Given the description of an element on the screen output the (x, y) to click on. 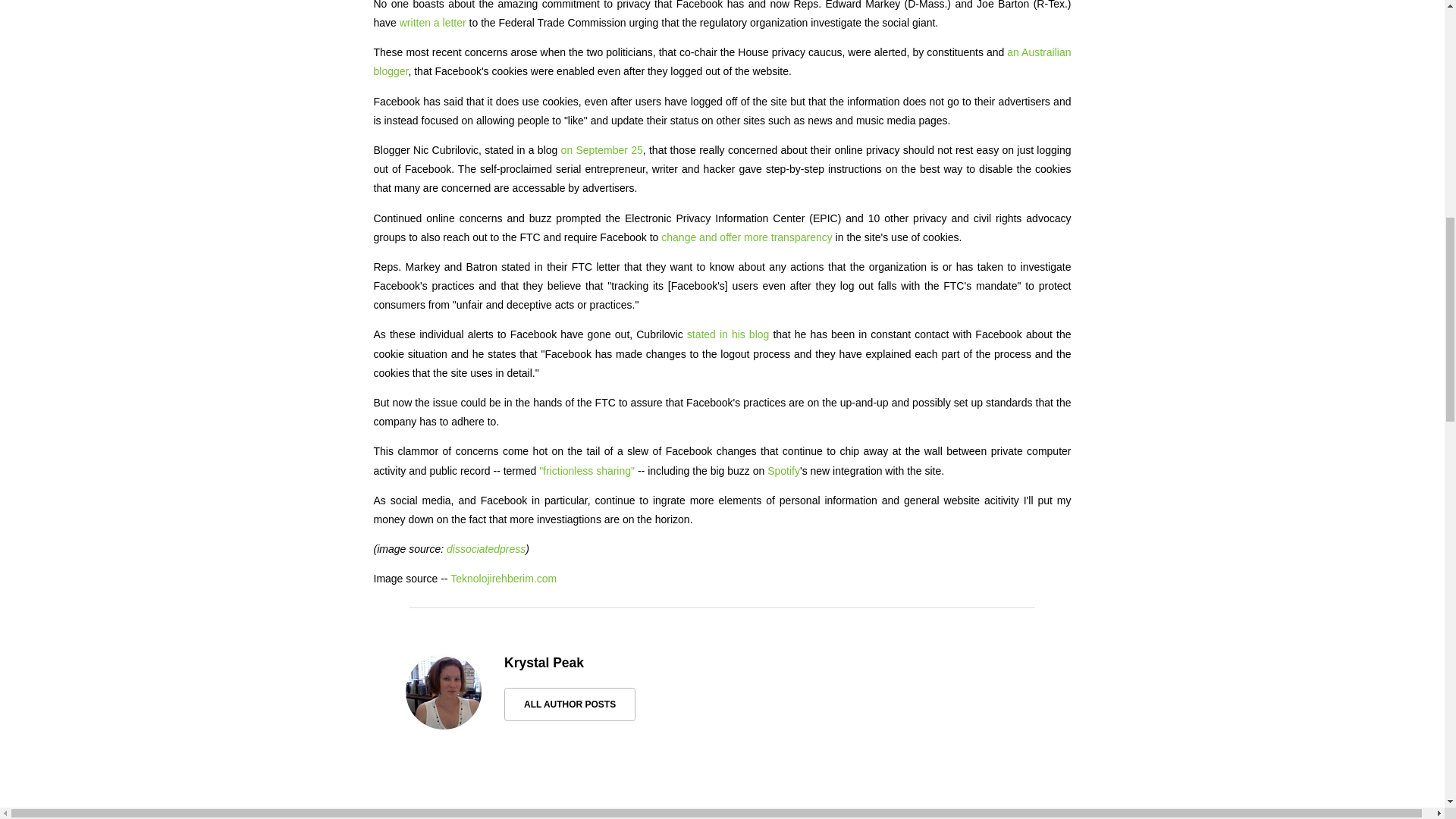
on September 25 (601, 150)
an Austrailian blogger (721, 60)
stated in his blog (728, 334)
Krystal Peak (543, 662)
Spotify (783, 470)
change and offer more transparency (746, 236)
"frictionless sharing" (586, 470)
ALL AUTHOR POSTS (568, 704)
Teknolojirehberim.com (502, 578)
dissociatedpress (485, 548)
